Given the description of an element on the screen output the (x, y) to click on. 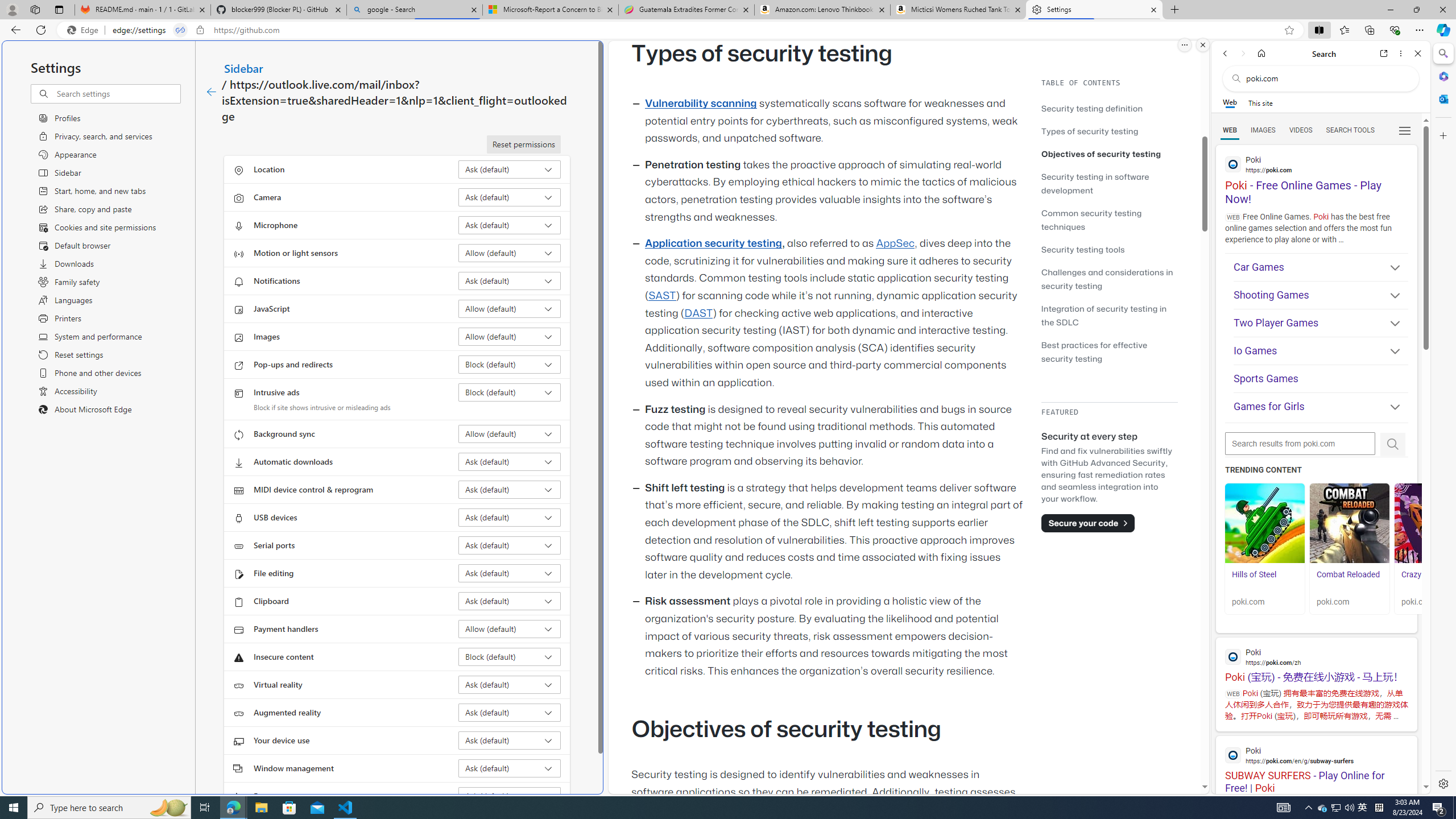
Serial ports Ask (default) (509, 545)
Close split screen. (1202, 45)
Location Ask (default) (509, 169)
Go back to Sidebar page. (210, 91)
VIDEOS (1300, 130)
Show More Io Games (1390, 351)
Shooting Games (1320, 295)
Shooting Games (1320, 295)
Common security testing techniques (1109, 219)
Security testing definition (1109, 108)
Combat Reloaded (1348, 574)
Sports Games (1320, 378)
